Given the description of an element on the screen output the (x, y) to click on. 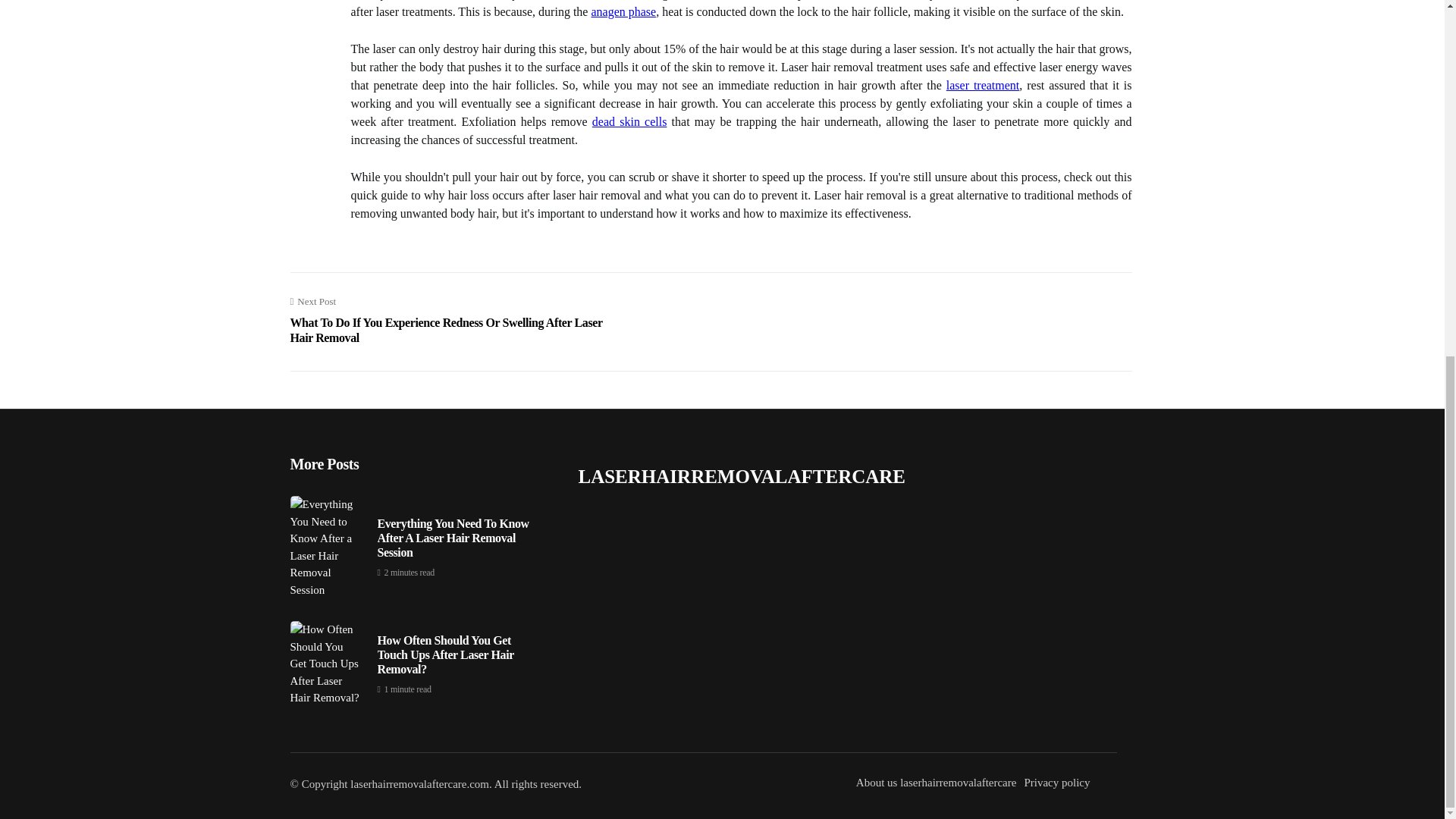
laser treatment (983, 84)
anagen phase (623, 11)
dead skin cells (629, 121)
